Given the description of an element on the screen output the (x, y) to click on. 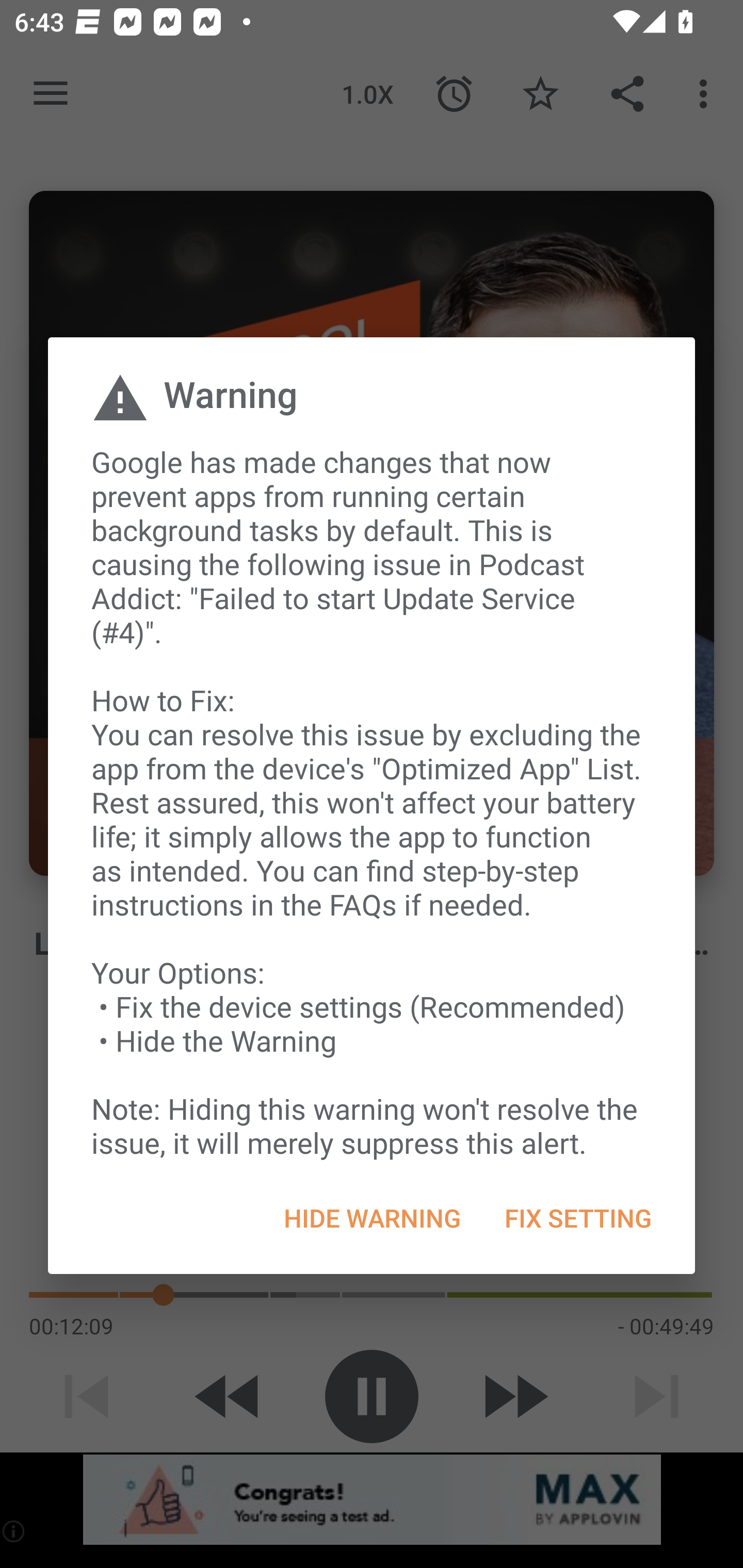
HIDE WARNING (372, 1217)
FIX SETTING (577, 1217)
